Given the description of an element on the screen output the (x, y) to click on. 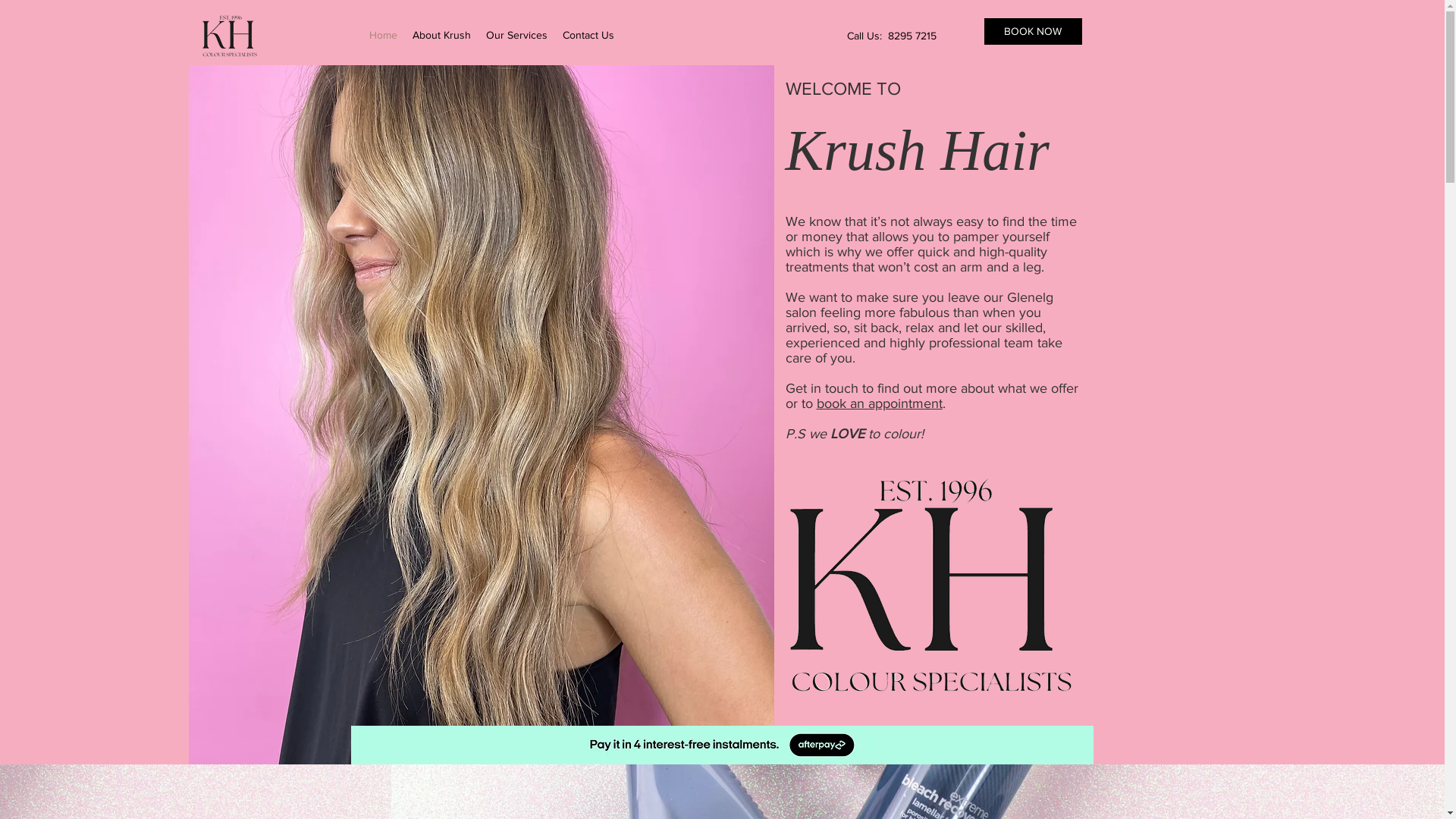
BOOK NOW Element type: text (1033, 31)
Our Services Element type: text (515, 35)
kh3.png Element type: hover (232, 43)
AP_Web_topstrip_payin4_blackmint_1920x100_jpg.jpg Element type: hover (721, 744)
Contact Us Element type: text (588, 35)
book an appointment Element type: text (878, 403)
About Krush Element type: text (441, 35)
Home Element type: text (382, 35)
